Given the description of an element on the screen output the (x, y) to click on. 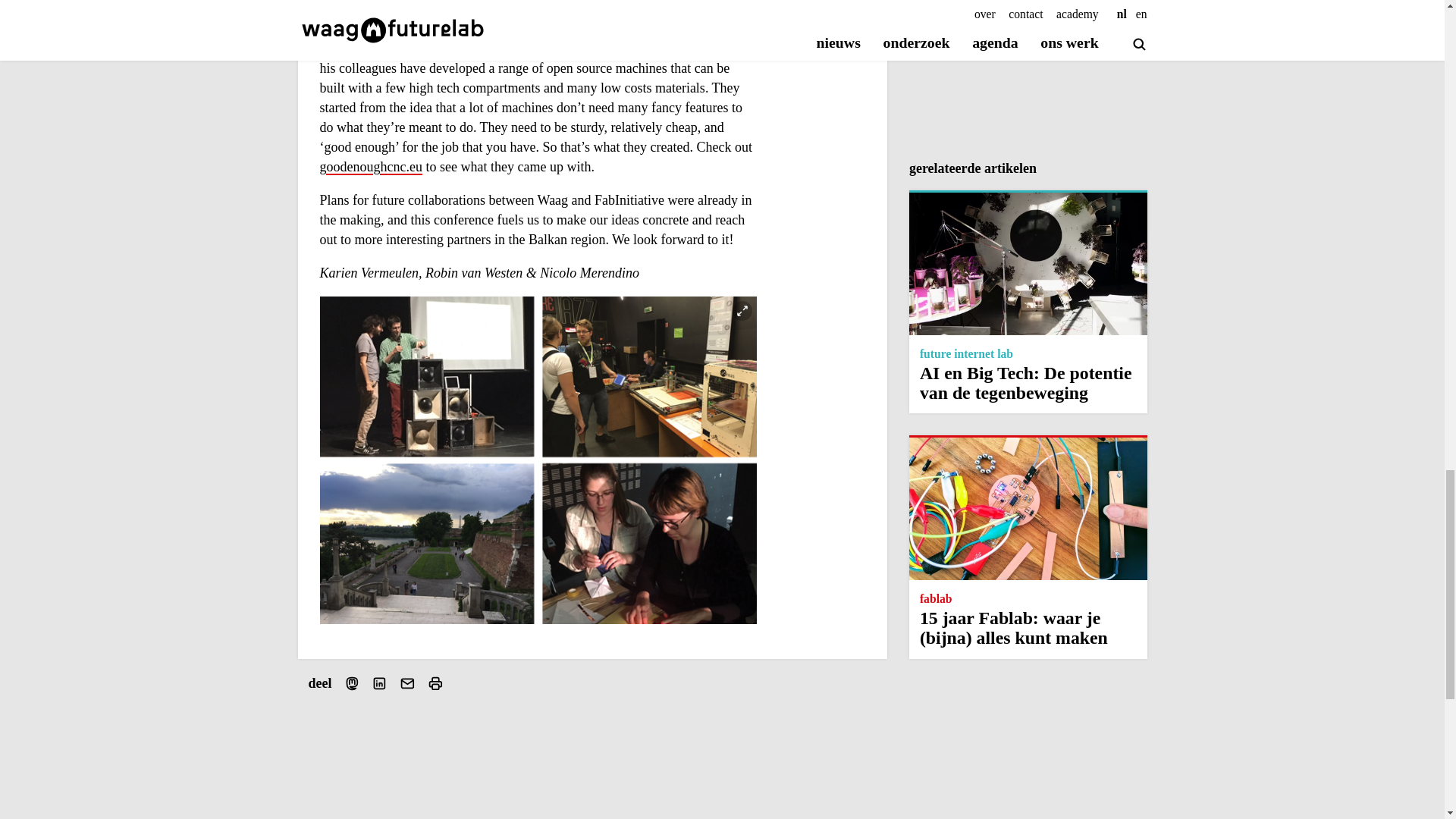
Deel via e-mail (406, 683)
Print (436, 683)
goodenoughcnc.eu (536, 176)
Deel via Mastodon (351, 683)
Deel via LinkedIn (379, 683)
